Given the description of an element on the screen output the (x, y) to click on. 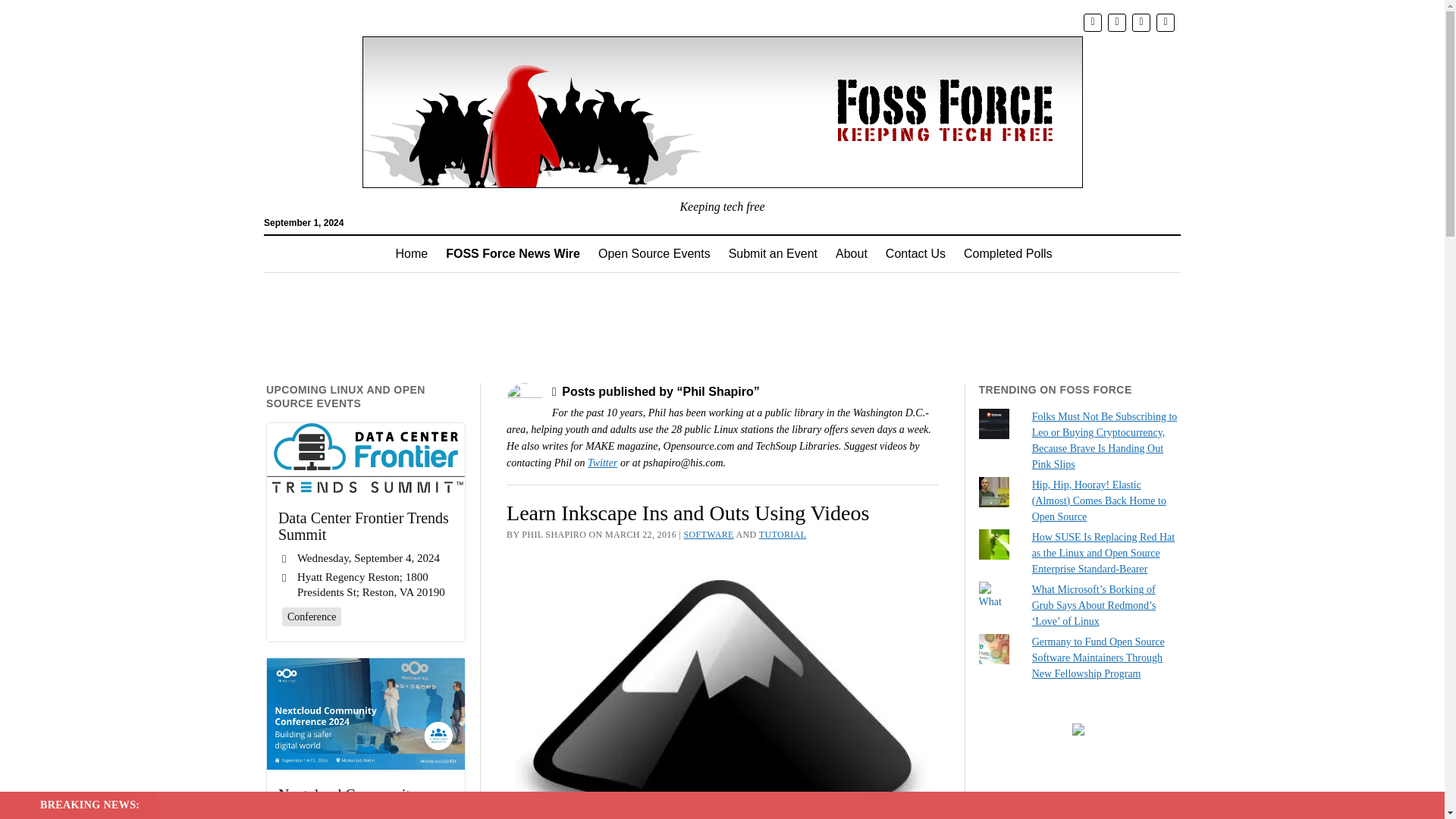
Home (412, 253)
Data Center Frontier Trends Summit (365, 458)
Submit an Event (773, 253)
Conference (312, 615)
Completed Polls (1008, 253)
About (851, 253)
FOSS Force News Wire (512, 253)
Open Source Events (654, 253)
